Given the description of an element on the screen output the (x, y) to click on. 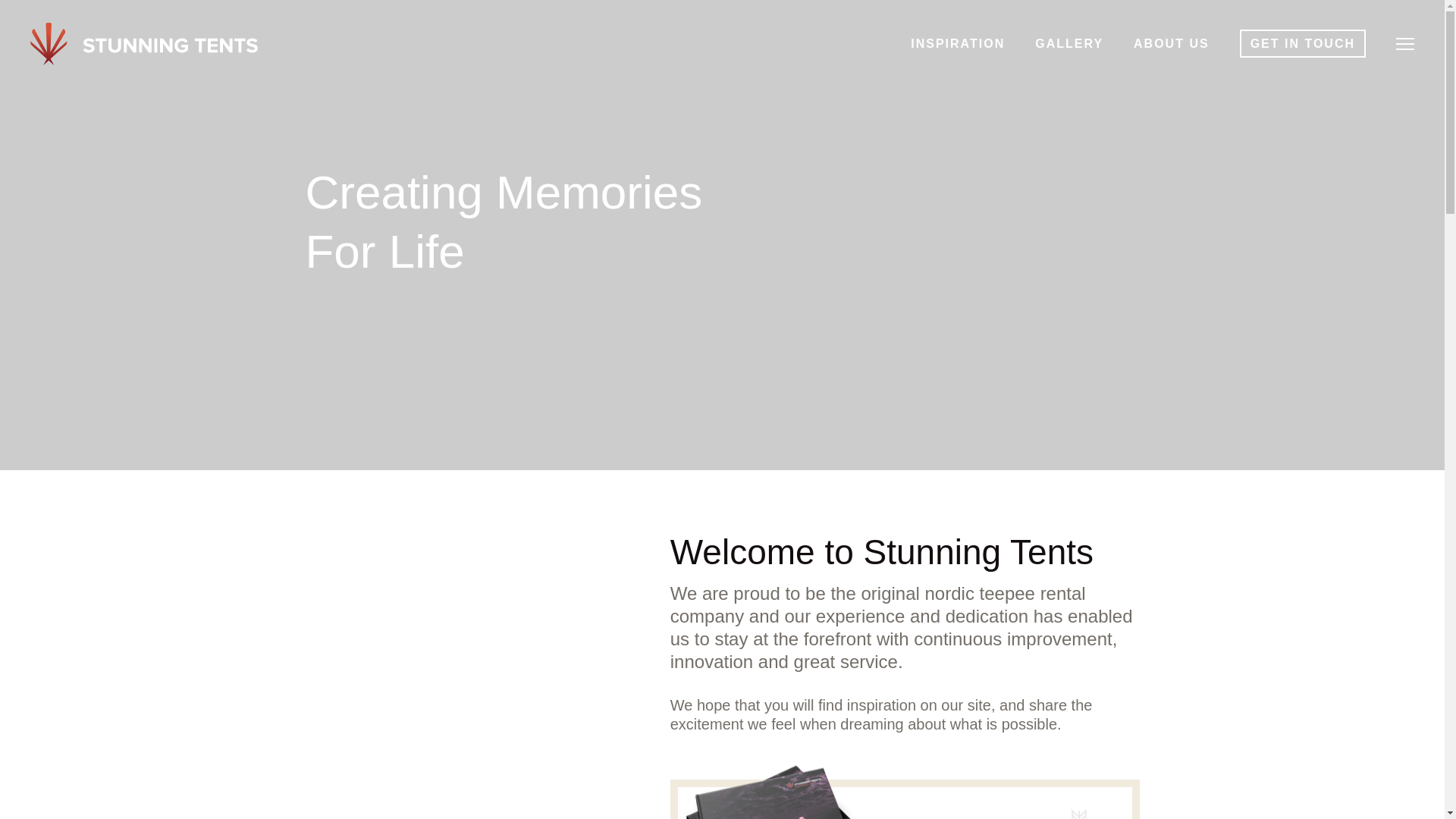
ABOUT US (1171, 43)
INSPIRATION (957, 43)
GET IN TOUCH (1302, 42)
GALLERY (1069, 43)
